Given the description of an element on the screen output the (x, y) to click on. 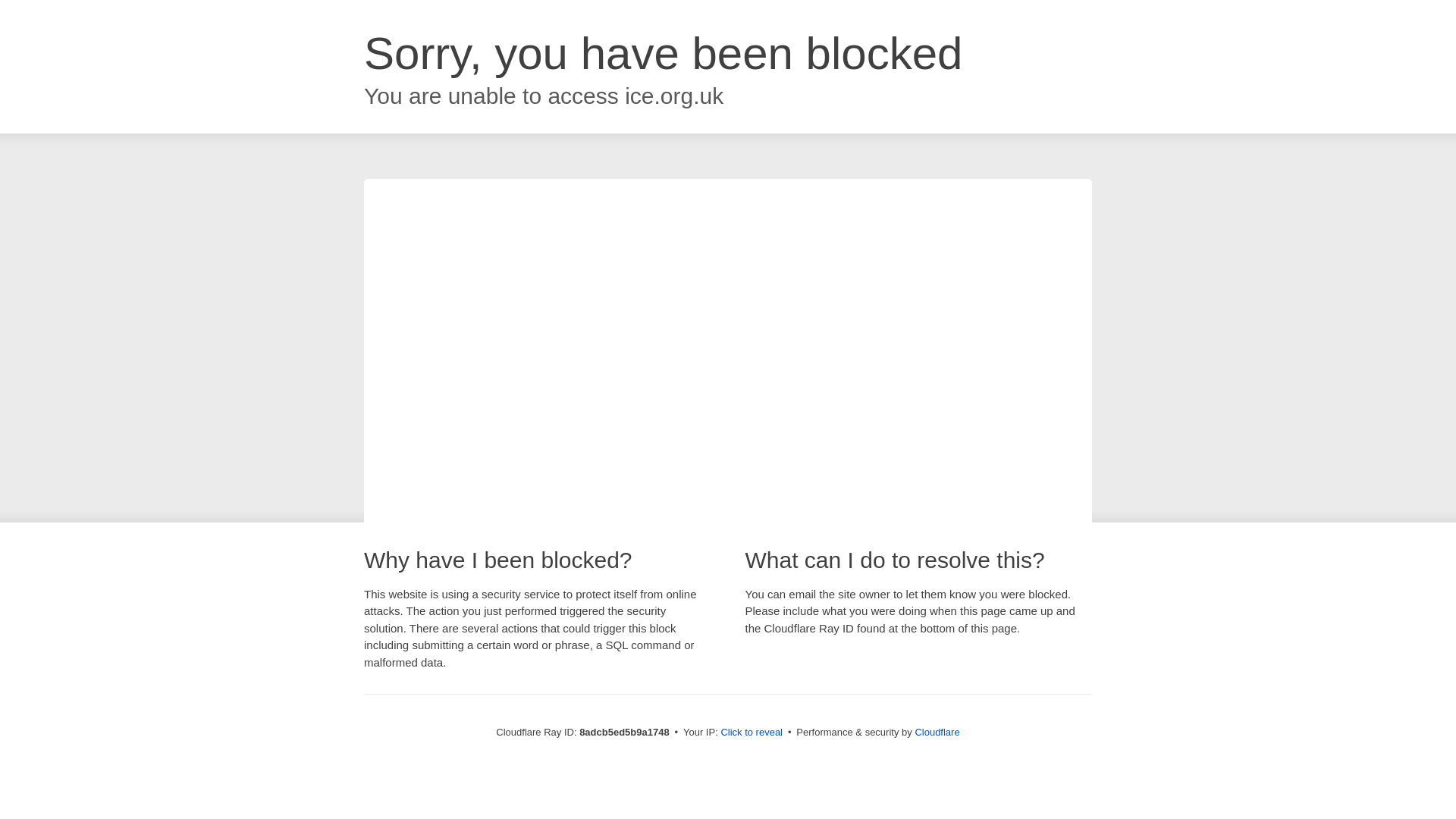
Click to reveal (751, 732)
Cloudflare (936, 731)
